Given the description of an element on the screen output the (x, y) to click on. 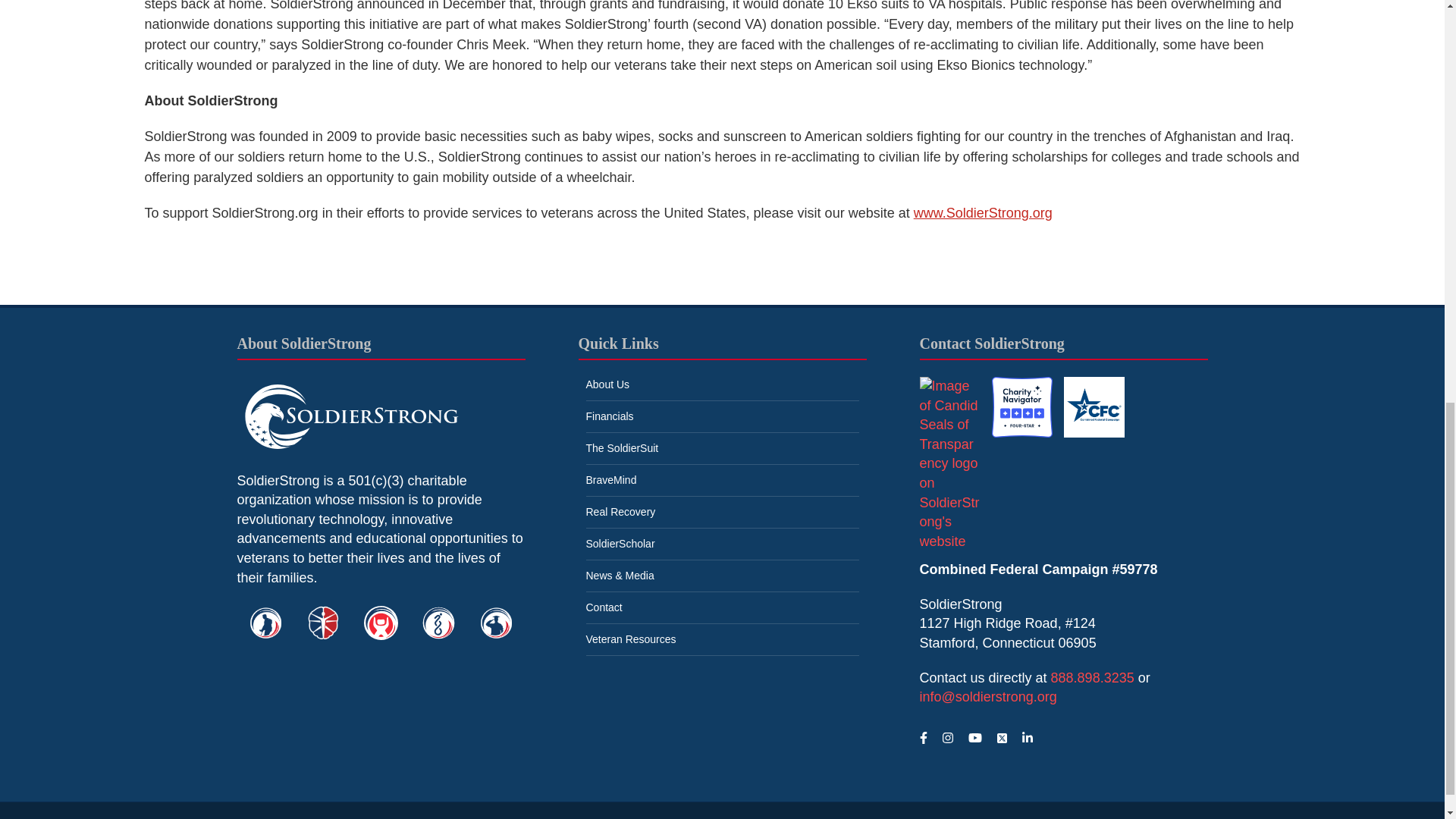
iBot (438, 622)
SoldierScholar (496, 622)
BraveMind (322, 622)
SoldierSuit (265, 622)
Real Recovery (380, 622)
www.SoldierStrong.org (983, 212)
